Given the description of an element on the screen output the (x, y) to click on. 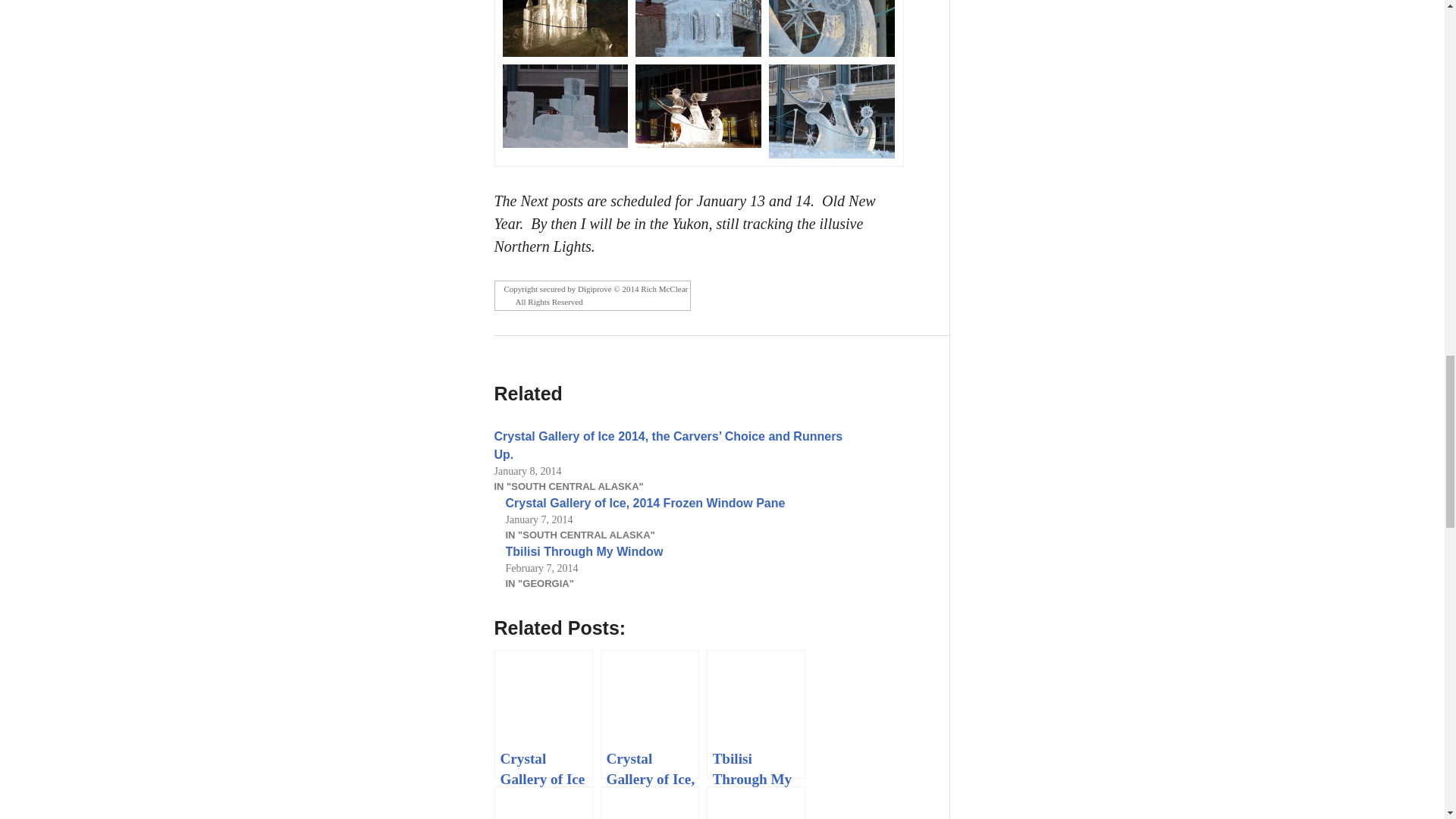
Chena Ice Museum (543, 802)
Tbilisi Through My Window (583, 551)
Crystal Gallery of Ice, 2014 Frozen Window Pane (644, 502)
Click to see details of license (592, 301)
Chena Ice Hotel and Museum, Chena Hot Springs, Alaska (755, 802)
